Given the description of an element on the screen output the (x, y) to click on. 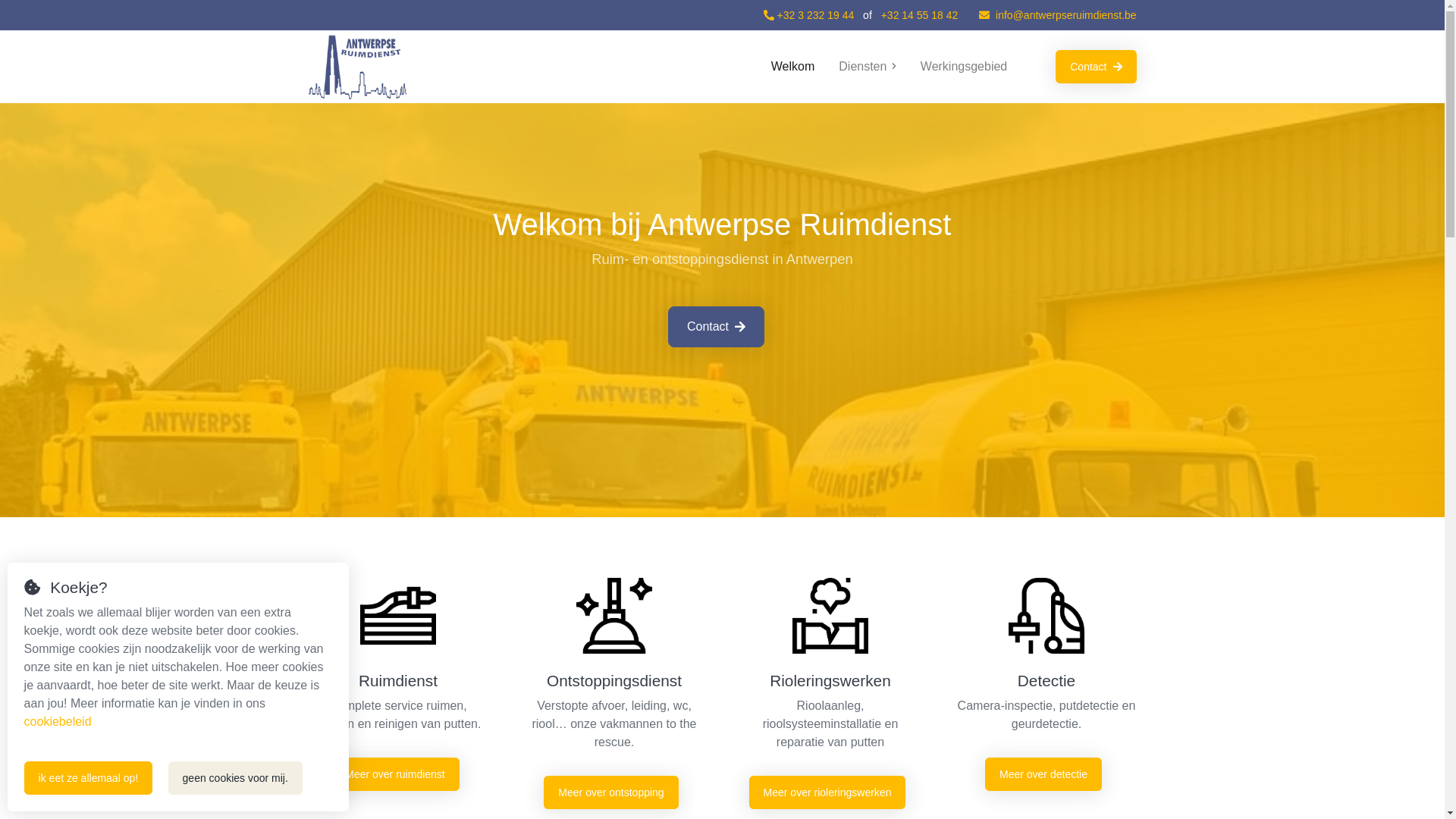
Werkingsgebied Element type: text (963, 66)
cookiebeleid Element type: text (57, 721)
info@antwerpseruimdienst.be Element type: text (1057, 15)
Meer over ruimdienst Element type: text (394, 773)
Contact Element type: text (1095, 66)
ik eet ze allemaal op! Element type: text (88, 777)
Contact Element type: text (716, 326)
Meer over ontstopping Element type: text (610, 792)
+32 14 55 18 42 Element type: text (919, 15)
Welkom Element type: text (793, 66)
Meer over detectie Element type: text (1043, 773)
Diensten Element type: text (867, 66)
Meer over rioleringswerken Element type: text (827, 792)
+32 3 232 19 44 Element type: text (808, 15)
geen cookies voor mij. Element type: text (235, 777)
